Given the description of an element on the screen output the (x, y) to click on. 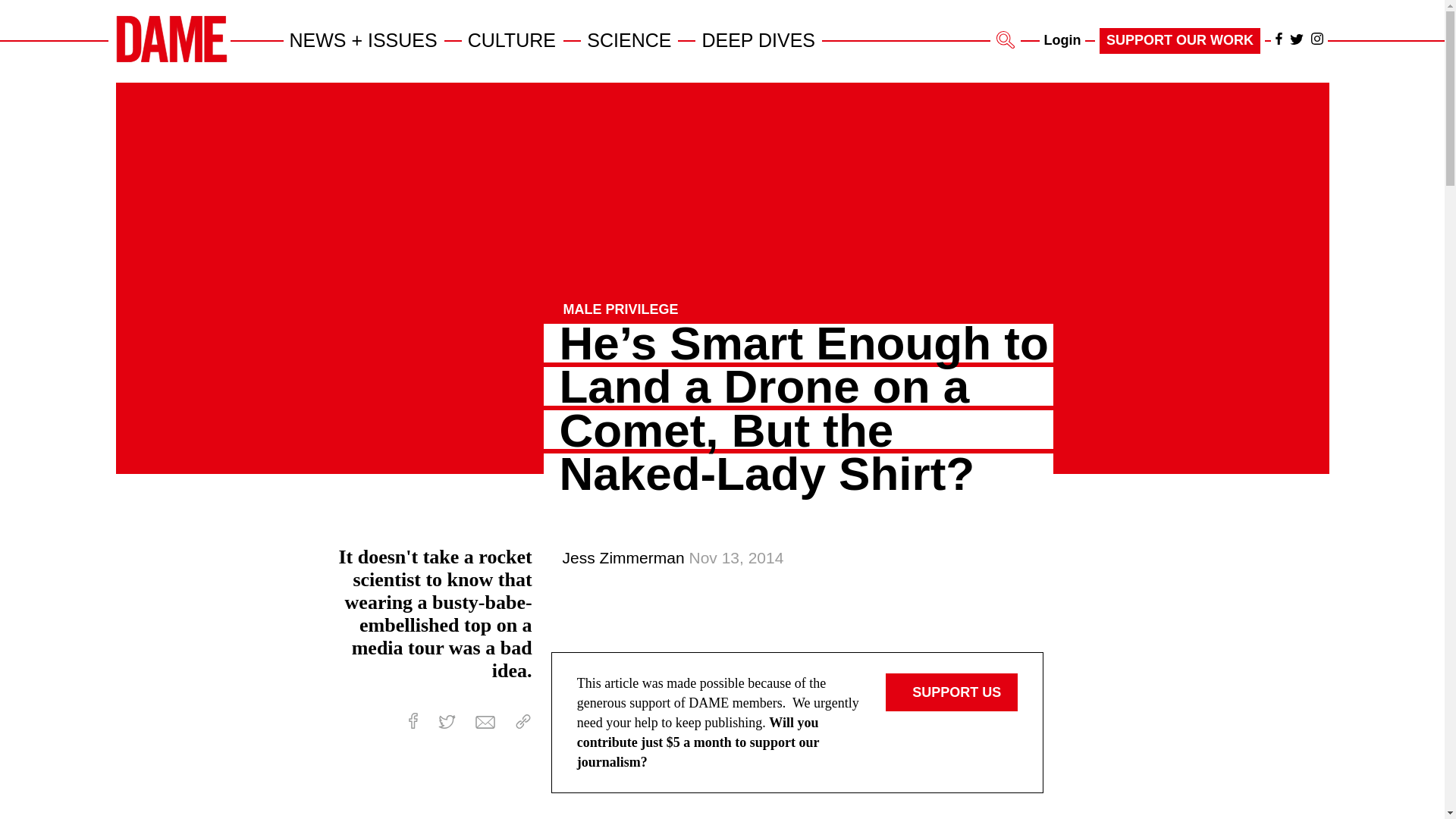
DAME (171, 58)
Share (523, 721)
Search (1004, 39)
Instagram (1316, 38)
DEEP DIVES (758, 39)
Twitter (446, 721)
SCIENCE (629, 39)
Science (629, 39)
Email (485, 721)
Deep Dives (758, 39)
